Given the description of an element on the screen output the (x, y) to click on. 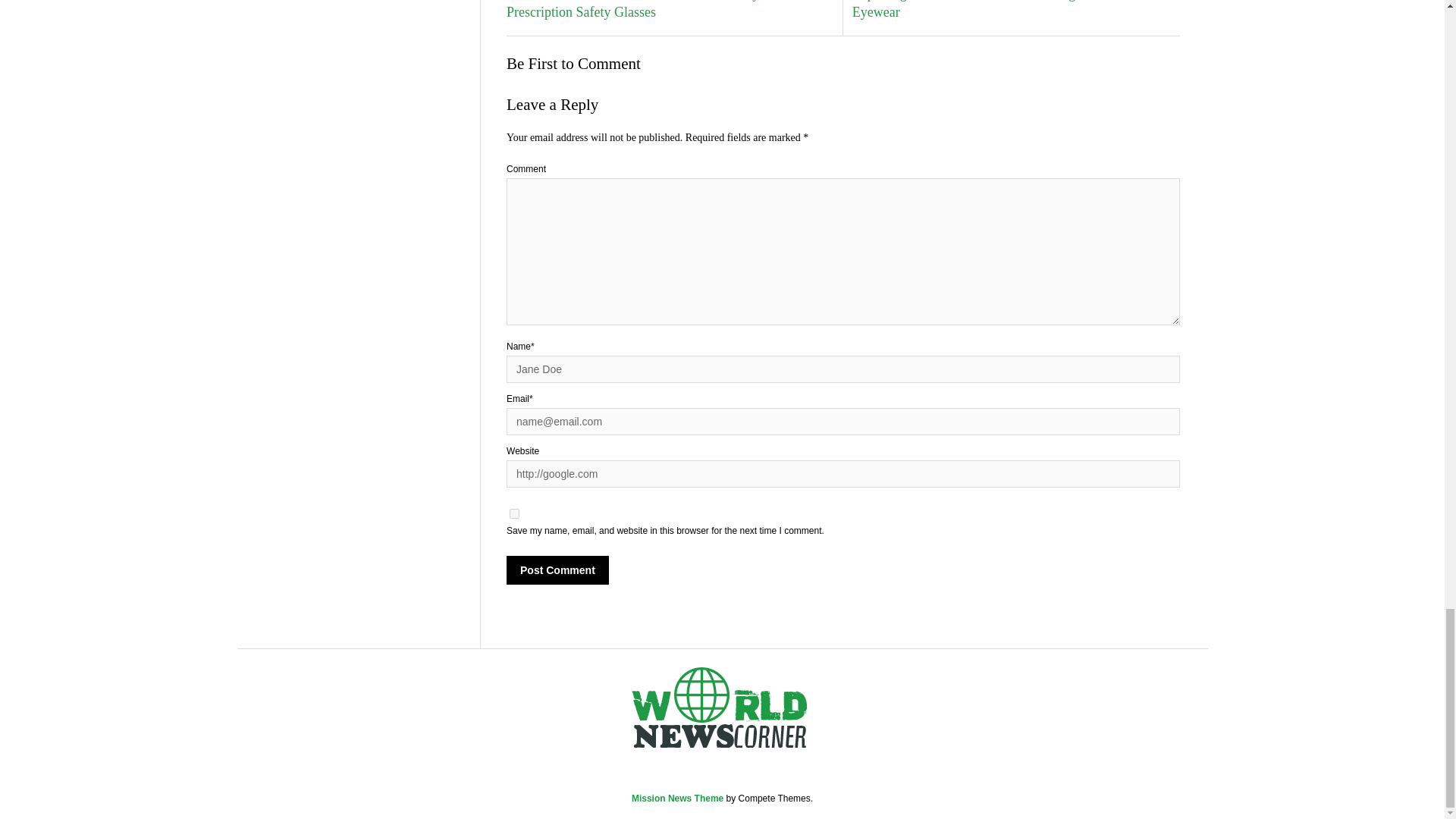
Post Comment (557, 570)
yes (514, 513)
